Given the description of an element on the screen output the (x, y) to click on. 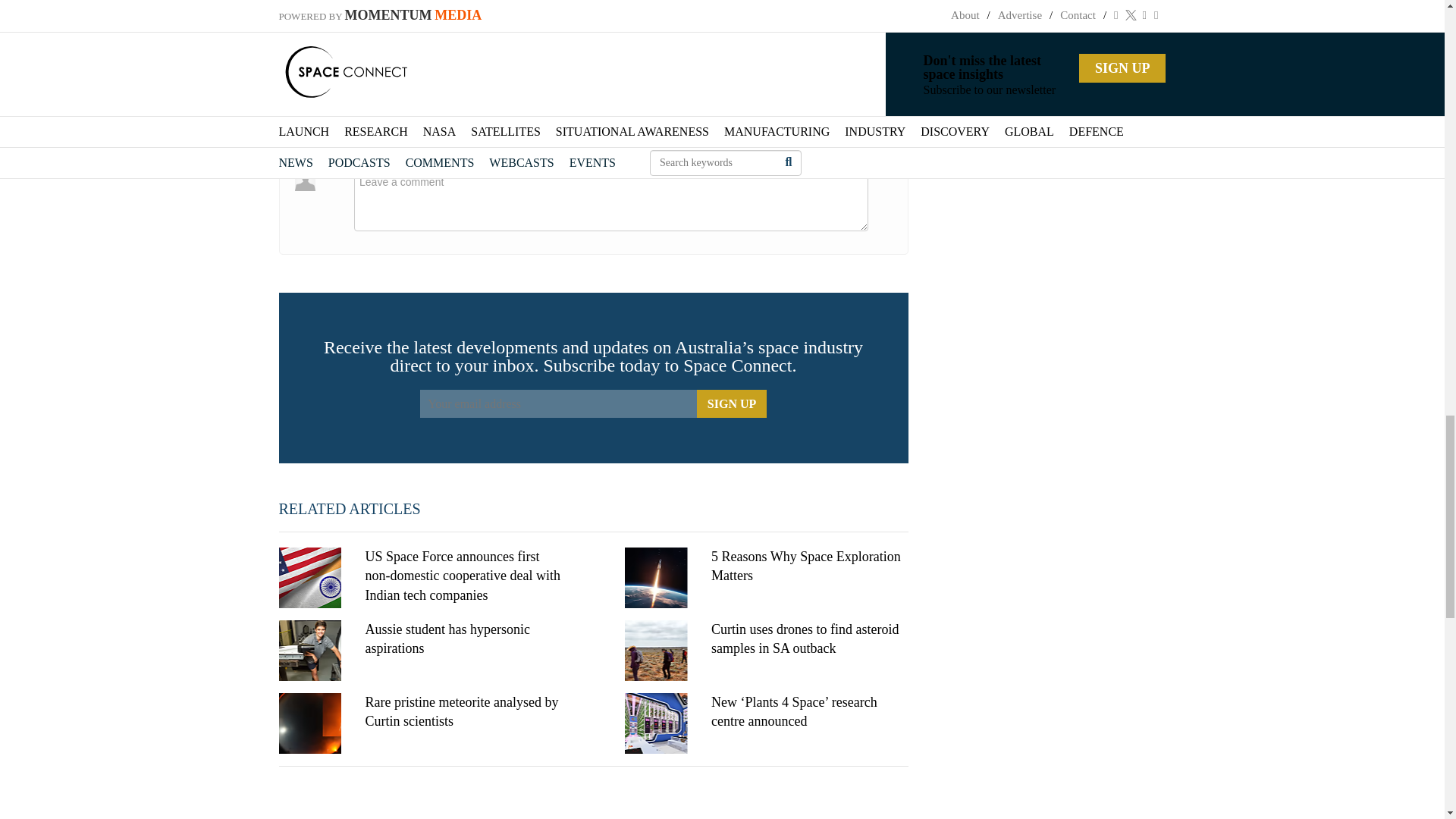
Add New (864, 117)
sign up (731, 403)
